Given the description of an element on the screen output the (x, y) to click on. 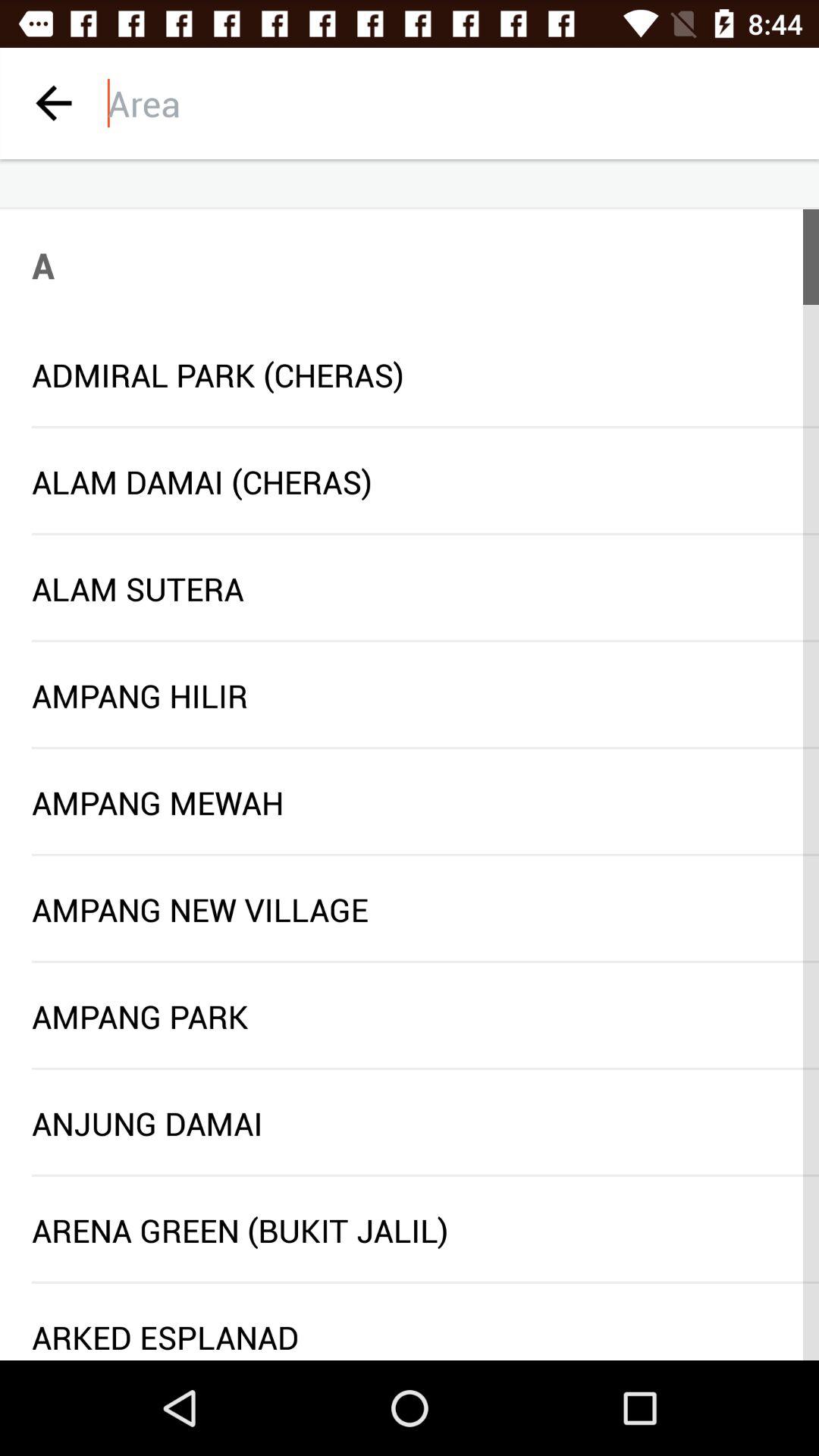
search area (463, 103)
